Given the description of an element on the screen output the (x, y) to click on. 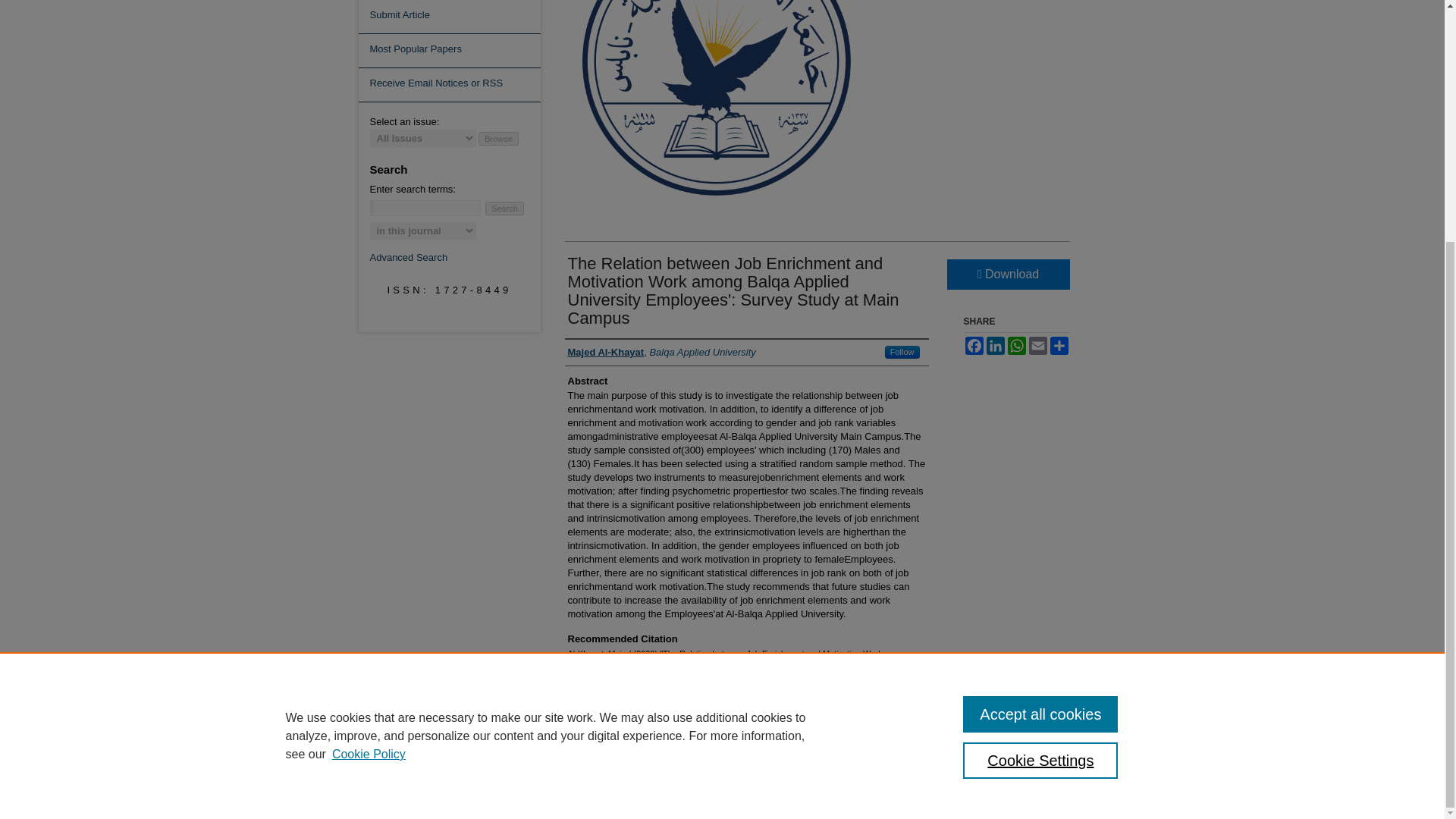
Majed Al-Khayat, Balqa Applied University (661, 352)
Most Popular Papers (449, 50)
WhatsApp (1016, 345)
View the top downloaded papers (449, 50)
Browse (498, 138)
Share (1058, 345)
Search (504, 208)
Facebook (973, 345)
Follow Majed Al-Khayat (902, 351)
Email (1037, 345)
Browse (498, 138)
Search (504, 208)
LinkedIn (995, 345)
Submit Article (449, 17)
